Given the description of an element on the screen output the (x, y) to click on. 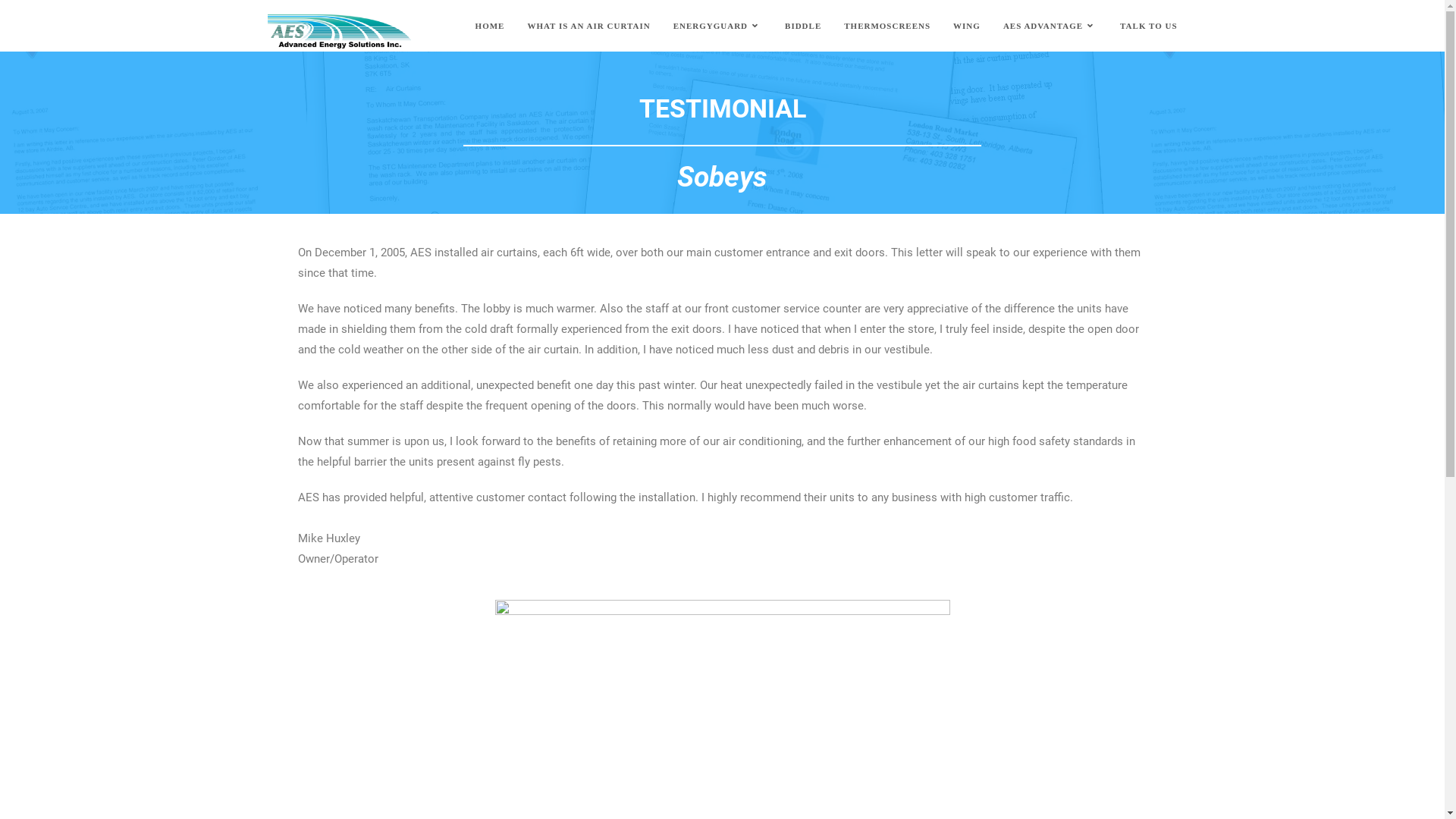
ENERGYGUARD Element type: text (717, 25)
THERMOSCREENS Element type: text (886, 25)
BIDDLE Element type: text (802, 25)
TALK TO US Element type: text (1148, 25)
WHAT IS AN AIR CURTAIN Element type: text (588, 25)
WING Element type: text (966, 25)
AES ADVANTAGE Element type: text (1049, 25)
HOME Element type: text (490, 25)
